Given the description of an element on the screen output the (x, y) to click on. 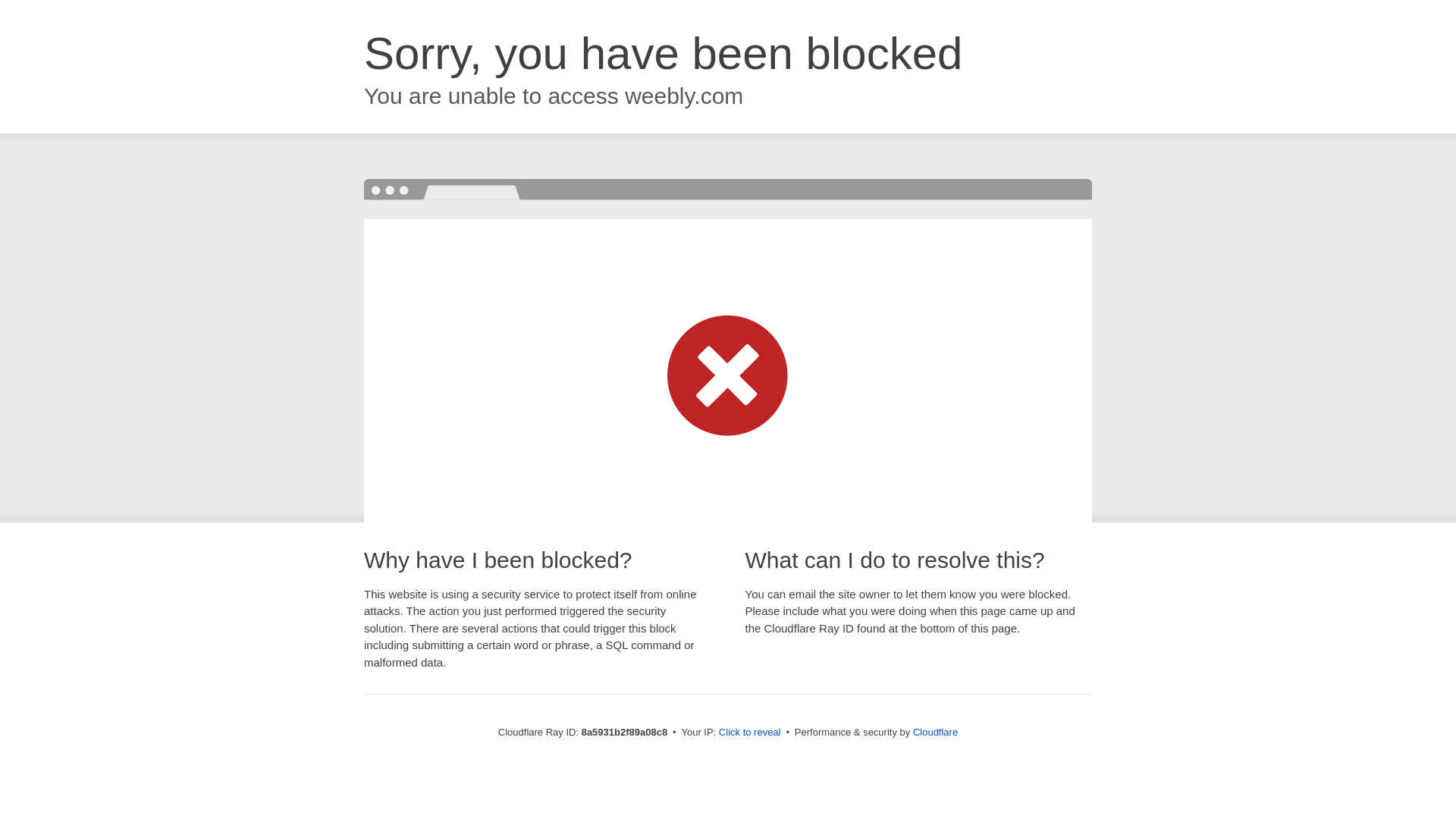
Click to reveal (749, 732)
Cloudflare (935, 731)
